Given the description of an element on the screen output the (x, y) to click on. 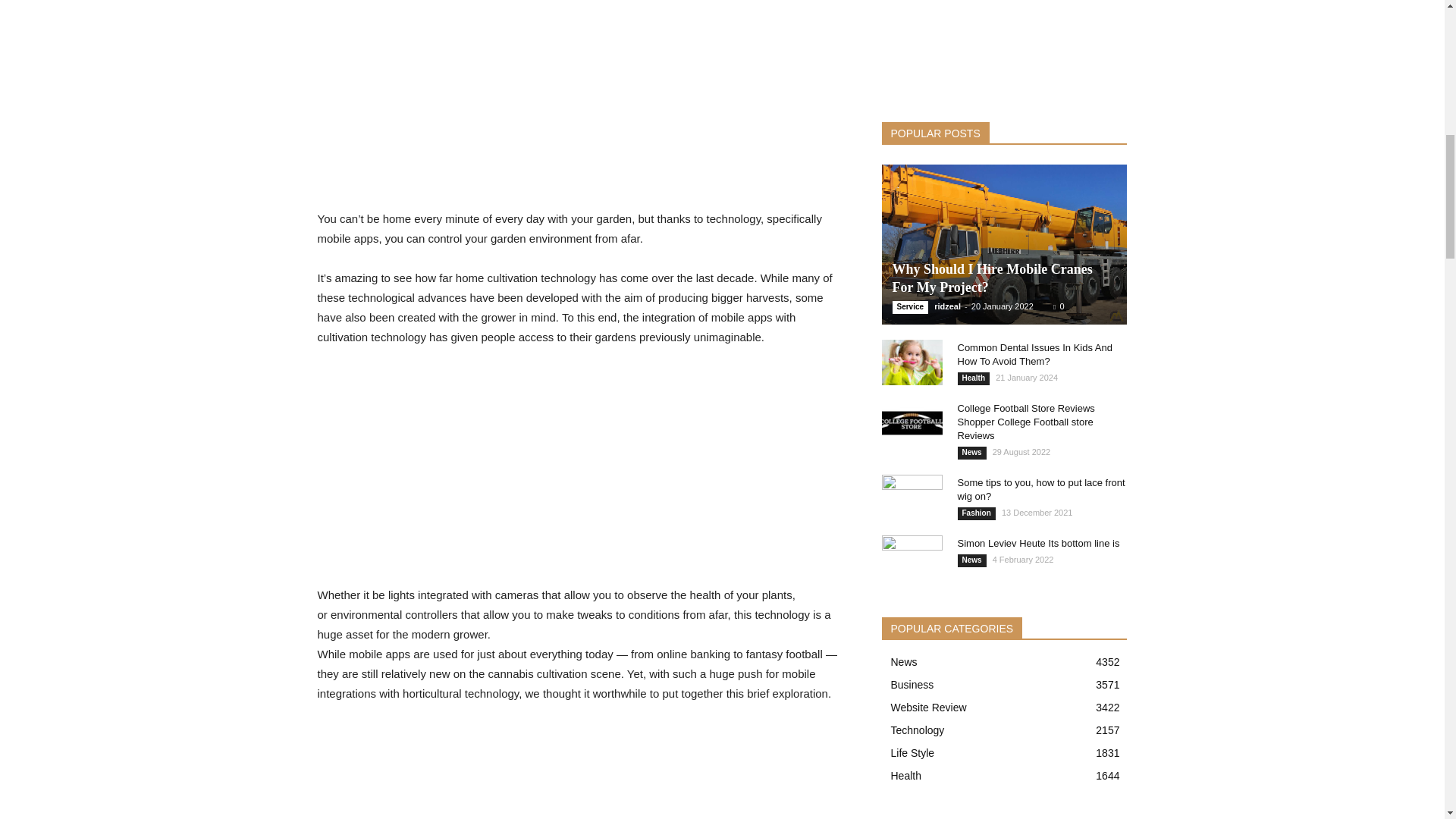
Advertisement (580, 771)
Advertisement (580, 472)
Advertisement (580, 170)
Advertisement (580, 70)
